Given the description of an element on the screen output the (x, y) to click on. 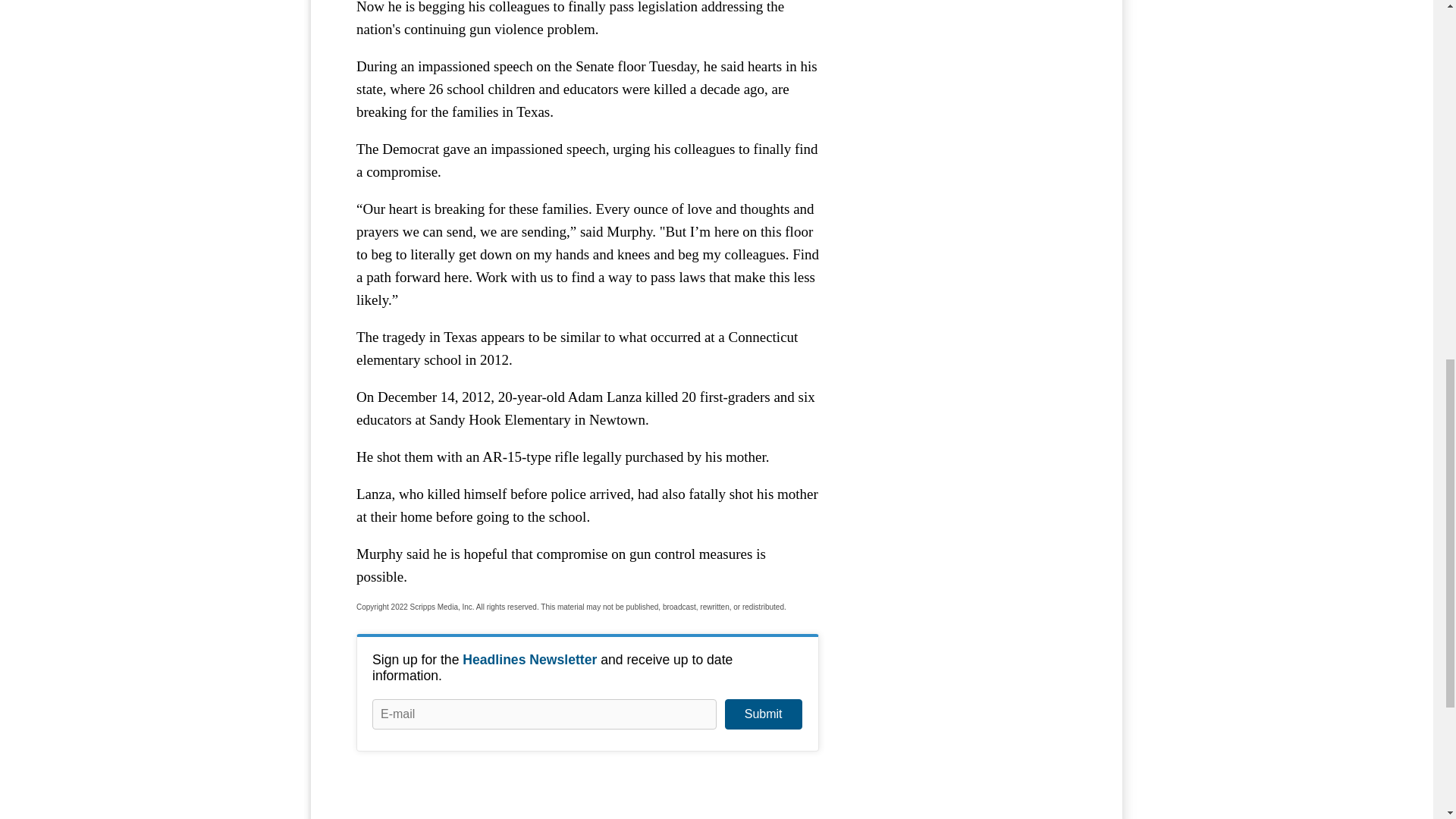
Submit (763, 714)
